Given the description of an element on the screen output the (x, y) to click on. 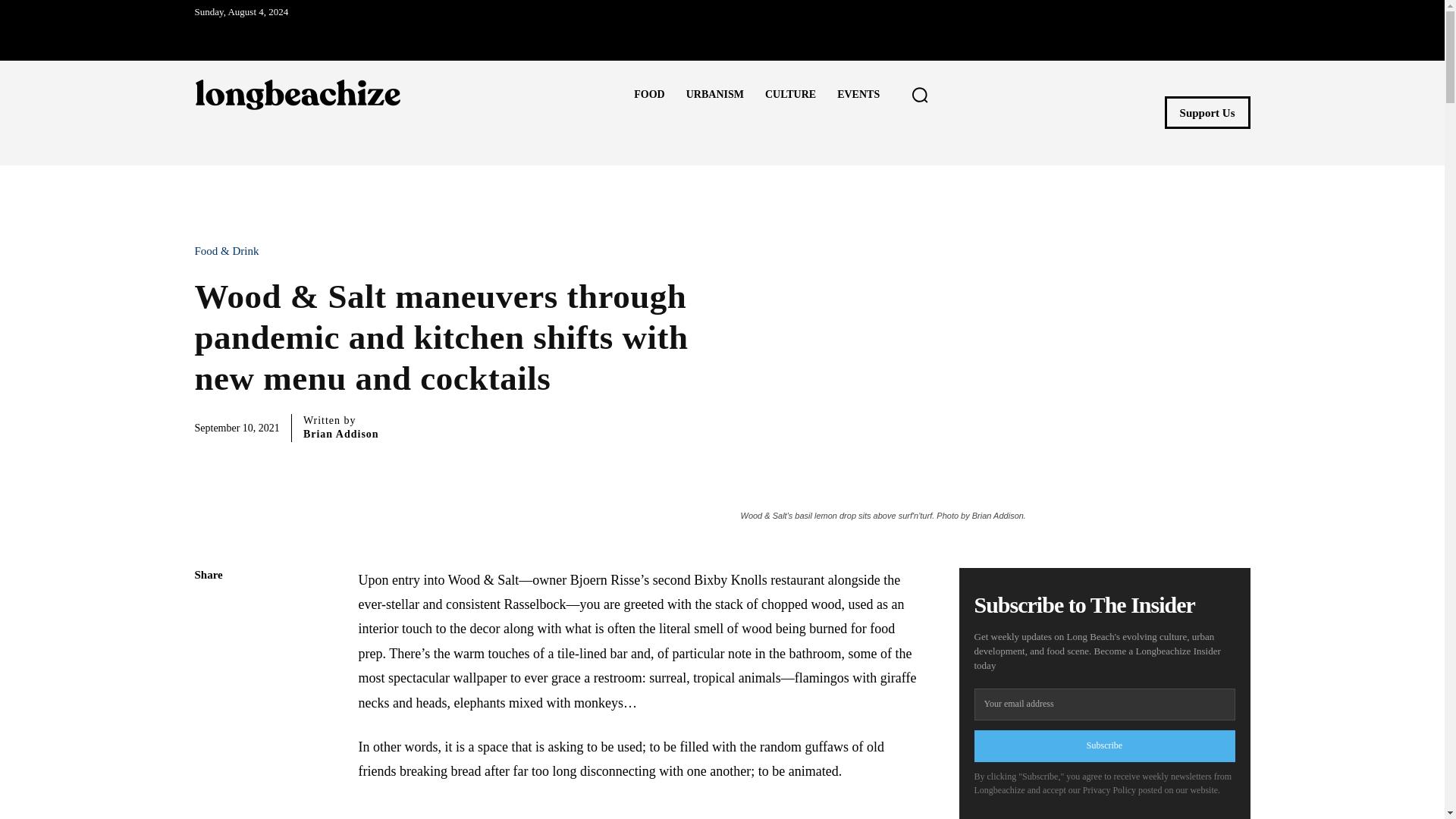
CULTURE (790, 94)
URBANISM (714, 94)
Longbeachize - Your Guide to Everything Long Beach (296, 94)
FOOD (649, 94)
EVENTS (858, 94)
